Given the description of an element on the screen output the (x, y) to click on. 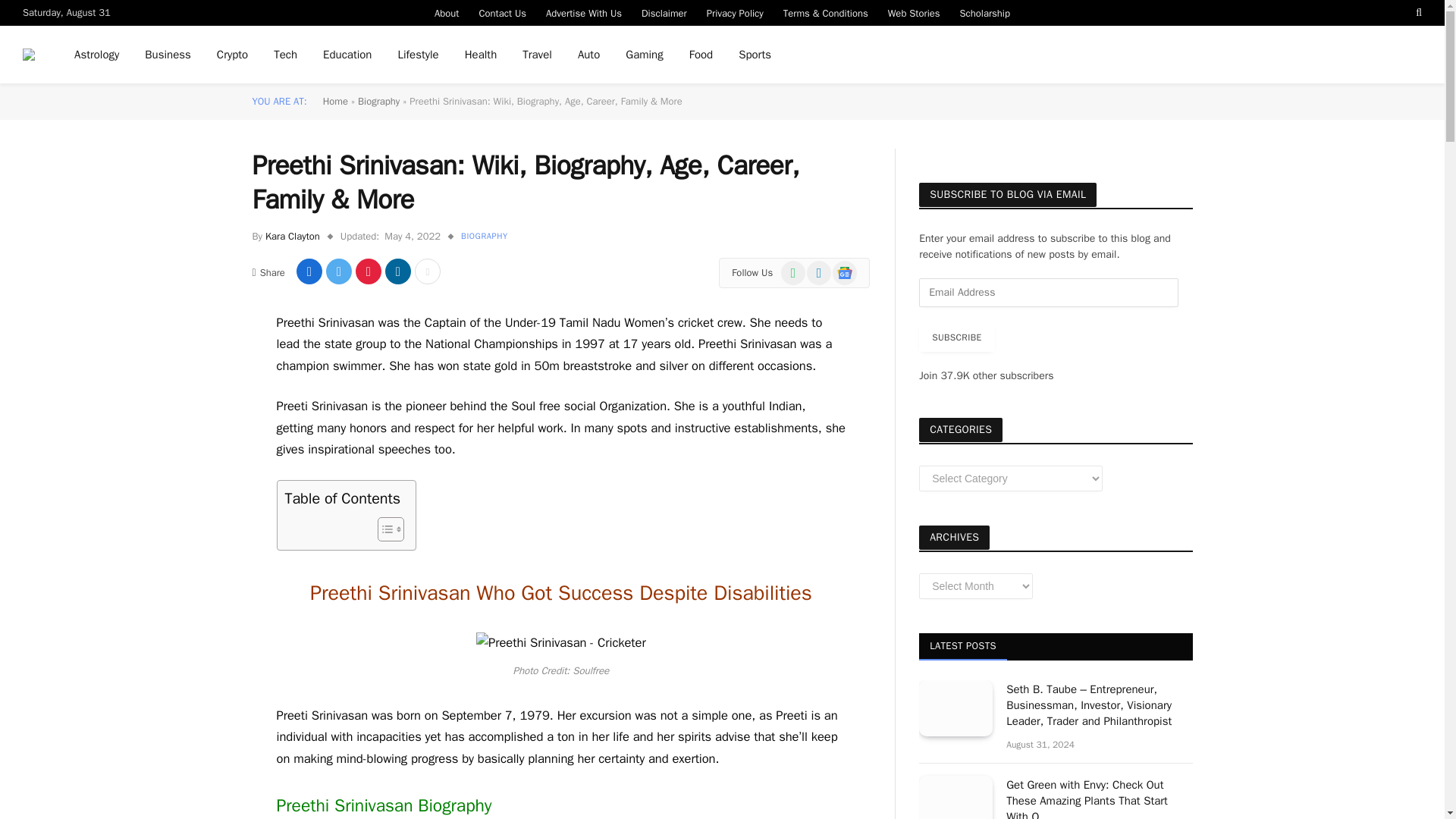
Privacy Policy (735, 12)
Advertise With Us (583, 12)
Posts by Kara Clayton (292, 236)
Crypto (231, 54)
Astrology (96, 54)
Scholarship (985, 12)
Show More Social Sharing (427, 271)
About (446, 12)
Web Stories (913, 12)
Share on Pinterest (368, 271)
